Given the description of an element on the screen output the (x, y) to click on. 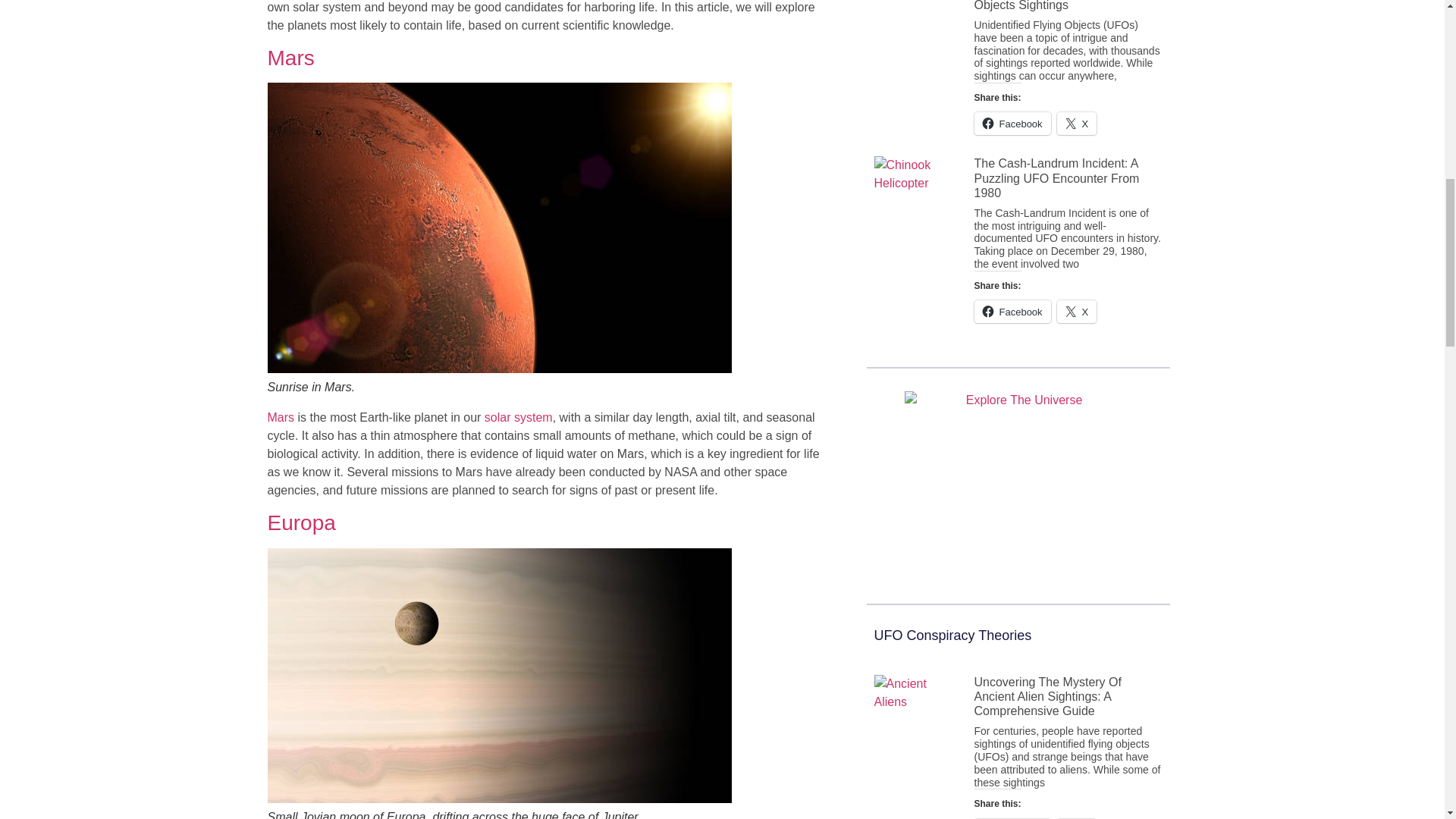
Mars (280, 417)
Europa (300, 522)
solar system (518, 417)
Mars (290, 57)
